Given the description of an element on the screen output the (x, y) to click on. 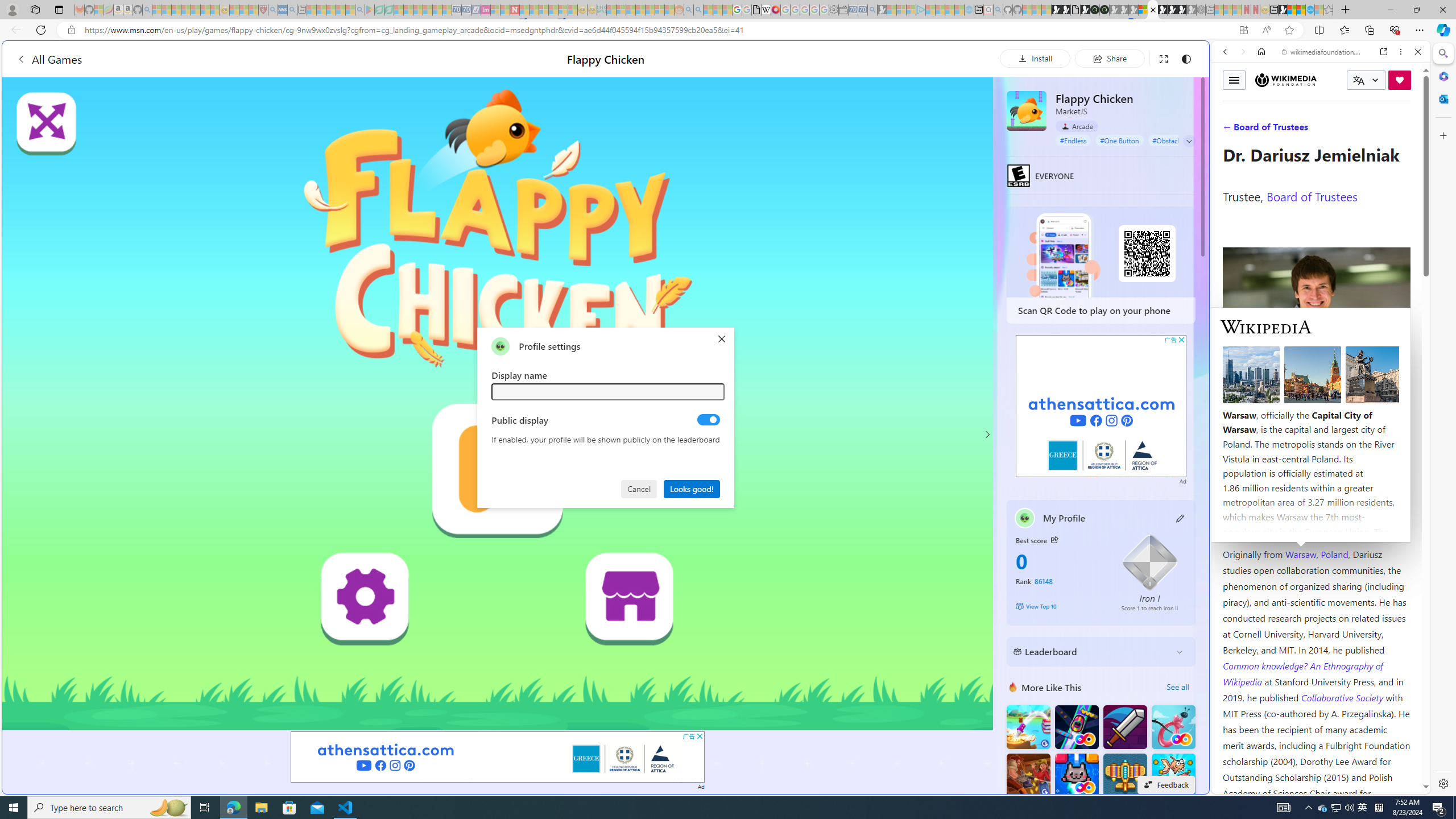
Class: b_serphb (1404, 130)
Looks good! (691, 488)
WEB   (1230, 130)
App available. Install Flappy Chicken (1243, 29)
Kitten Force FRVR (1076, 775)
Bluey: Let's Play! - Apps on Google Play - Sleeping (369, 9)
See all (1177, 687)
Wallet - Sleeping (843, 9)
